Given the description of an element on the screen output the (x, y) to click on. 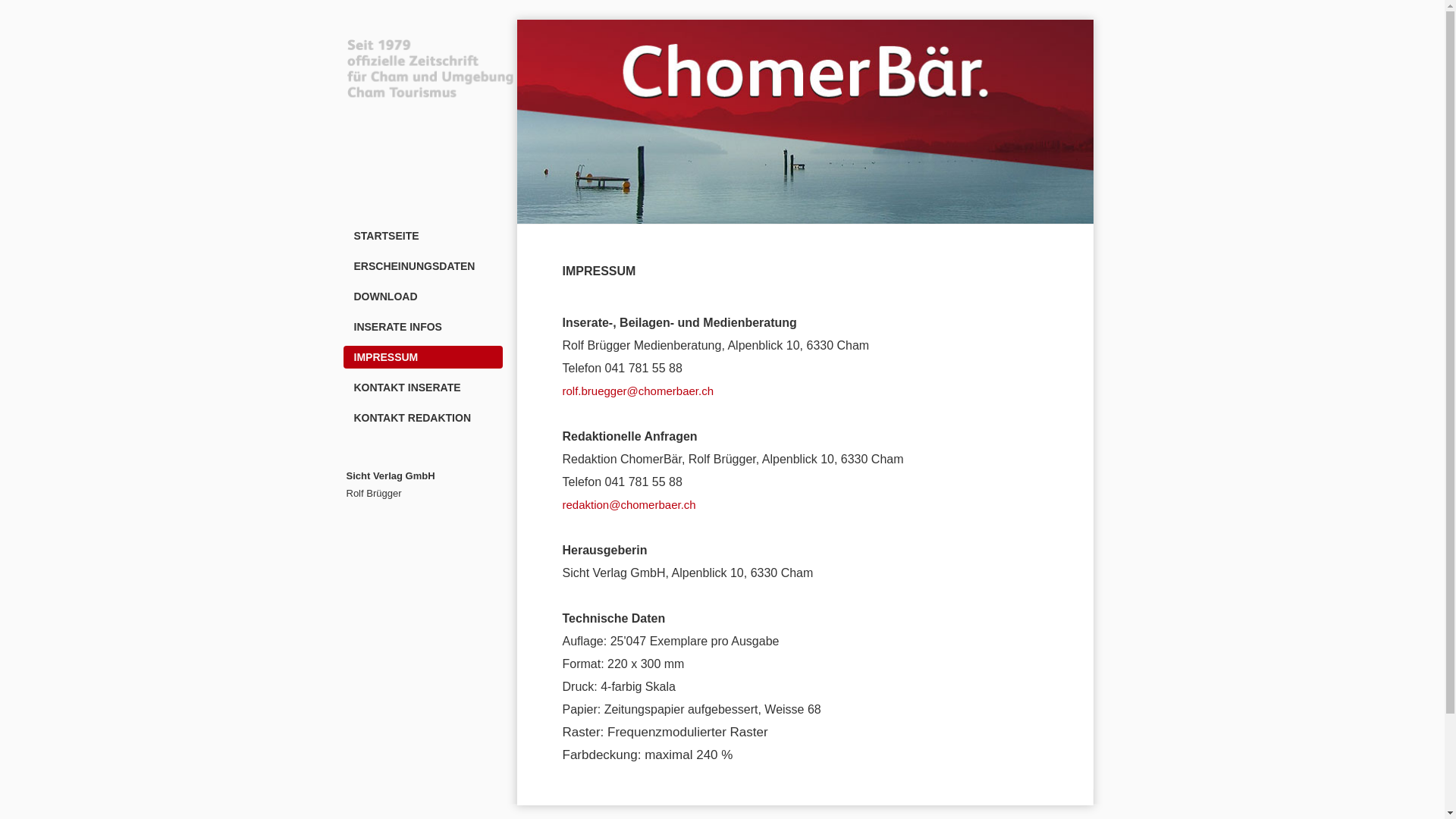
KONTAKT REDAKTION Element type: text (422, 417)
redaktion@chomerbaer.ch Element type: text (629, 504)
KONTAKT INSERATE Element type: text (422, 387)
STARTSEITE Element type: text (422, 235)
rolf.bruegger@chomerbaer.ch Element type: text (638, 390)
ERSCHEINUNGSDATEN Element type: text (422, 265)
DOWNLOAD Element type: text (422, 296)
INSERATE INFOS Element type: text (422, 326)
IMPRESSUM Element type: text (422, 356)
